Given the description of an element on the screen output the (x, y) to click on. 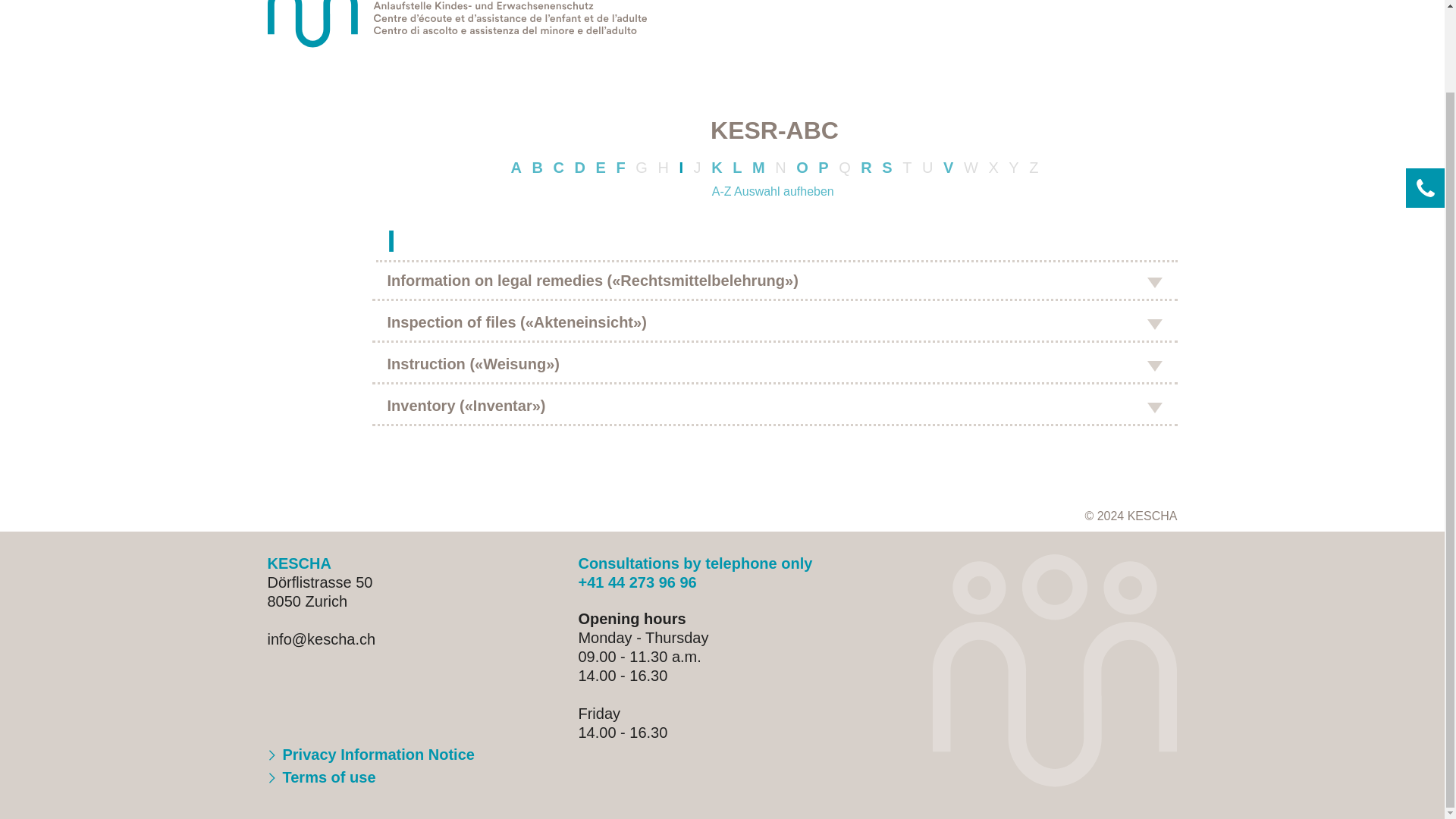
Terms of use (320, 777)
Privacy Information Notice (370, 754)
nfkschch (320, 638)
A-Z Auswahl aufheben (774, 191)
